Given the description of an element on the screen output the (x, y) to click on. 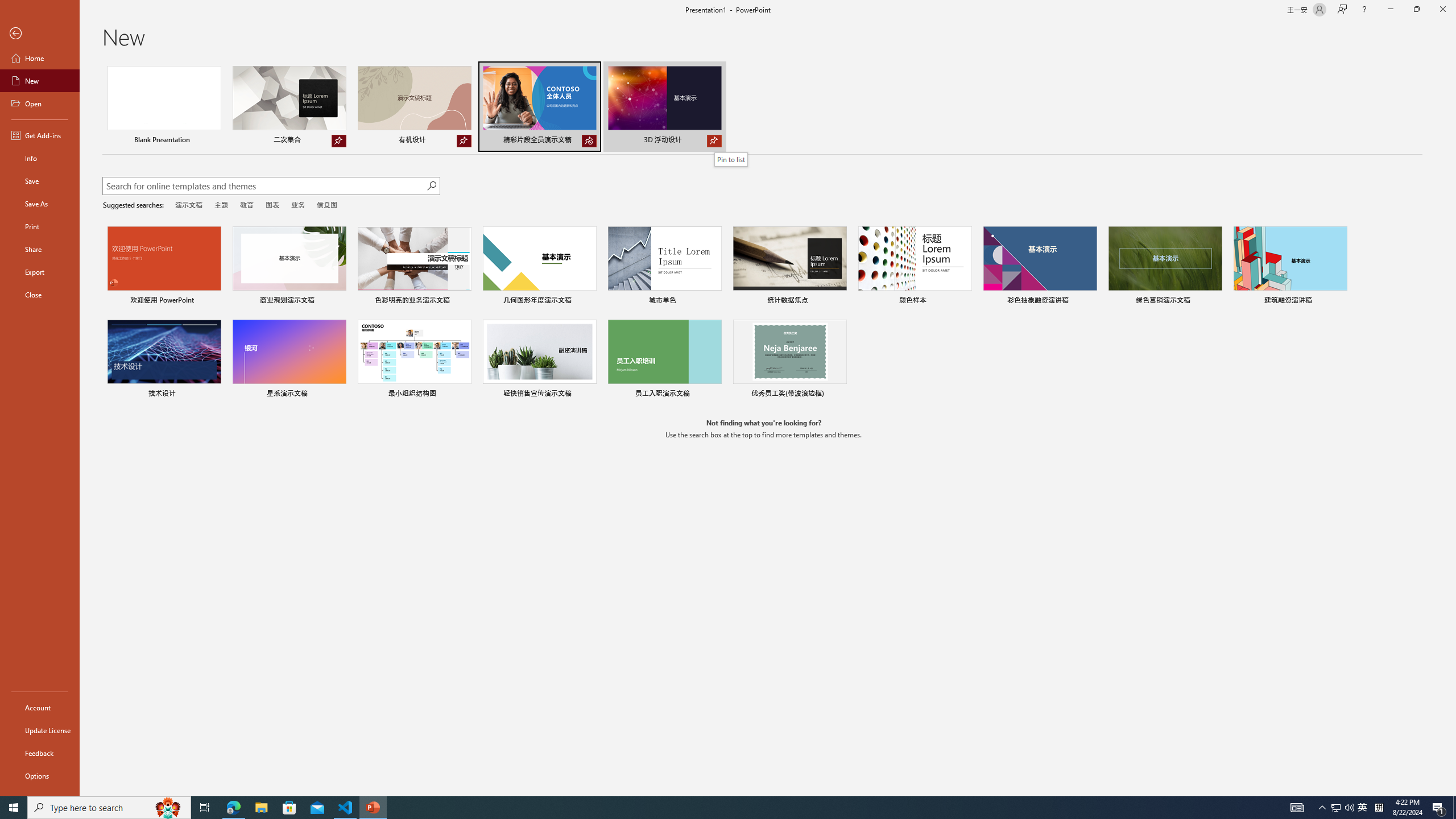
Blank Presentation (164, 106)
Export (40, 271)
Back (40, 33)
Print (40, 225)
Options (40, 775)
Account (40, 707)
